Given the description of an element on the screen output the (x, y) to click on. 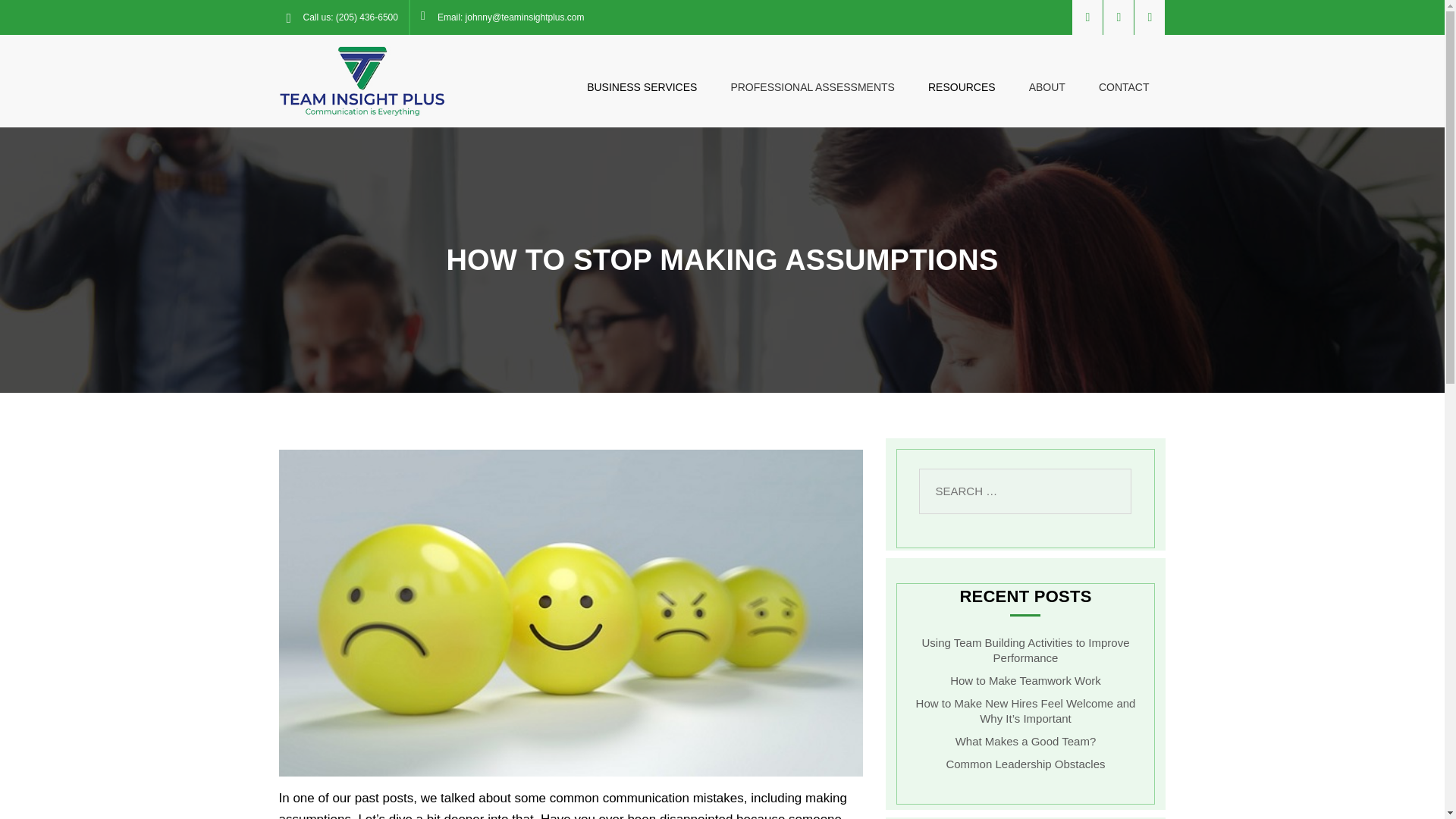
What Makes a Good Team? (1025, 740)
CONTACT (1123, 70)
ABOUT (1046, 70)
Teaminsight (362, 79)
BUSINESS SERVICES (641, 70)
Common Leadership Obstacles (1024, 763)
past posts (384, 798)
How to Make Teamwork Work (1025, 680)
RESOURCES (961, 70)
Search (106, 22)
PROFESSIONAL ASSESSMENTS (812, 70)
Using Team Building Activities to Improve Performance (1025, 650)
